Given the description of an element on the screen output the (x, y) to click on. 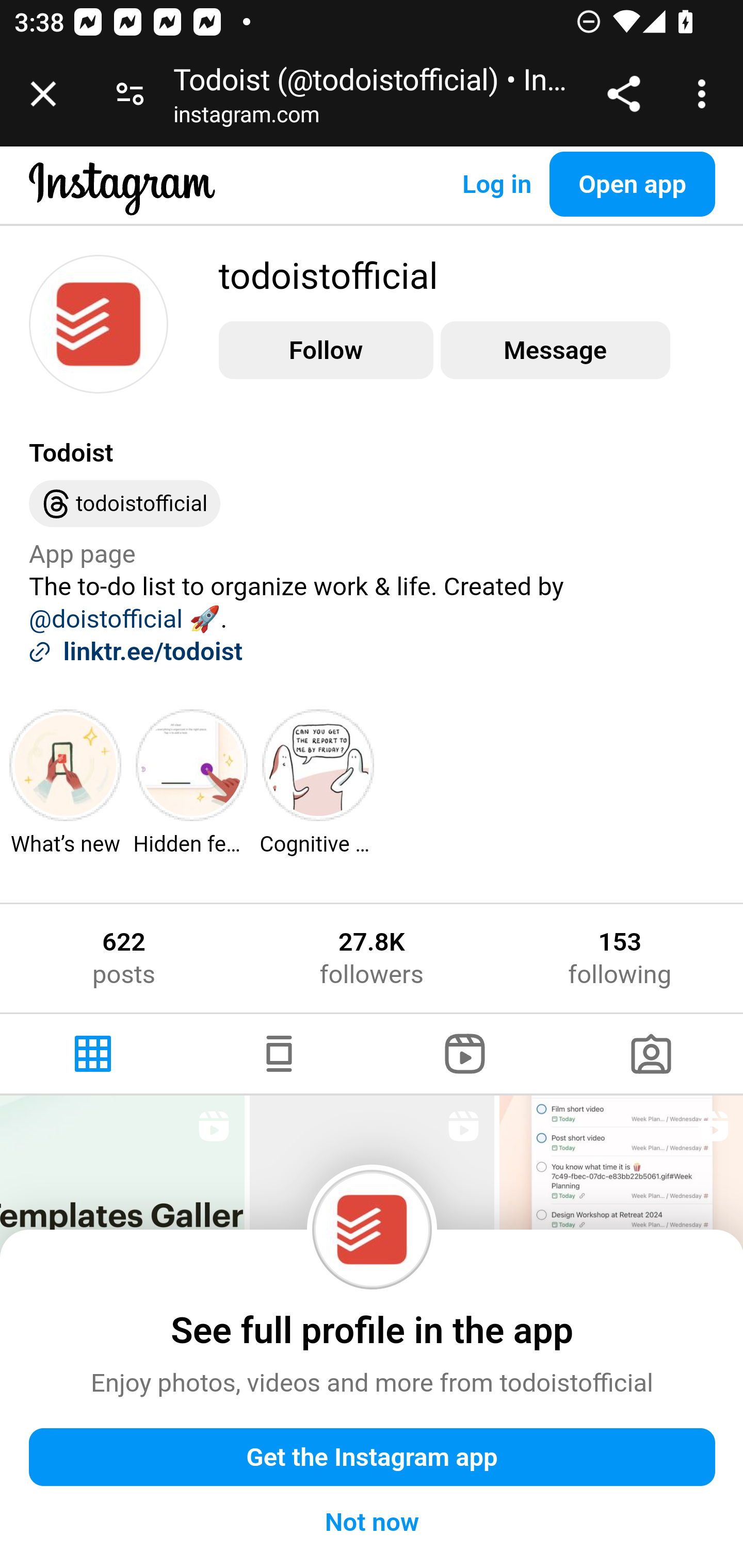
Close tab (43, 93)
Share link address (623, 93)
Customize and control Google Chrome (705, 93)
Connection is secure (129, 93)
instagram.com (246, 117)
Log in (495, 184)
Open app (632, 184)
Instagram Instagram Instagram Instagram (122, 203)
todoistofficial's profile picture (98, 322)
Follow (325, 350)
Message (554, 350)
Threads todoistofficial Threads todoistofficial (125, 503)
@doistofficial (106, 619)
linktr.ee/todoist (152, 651)
What’s new's profile picture (65, 765)
Hidden features's profile picture (192, 765)
Cognitive Bias's profile picture (318, 765)
622 posts (124, 956)
27.8K followers (371, 956)
153 following (619, 956)
Posts (93, 1053)
Feed (278, 1053)
Reels (465, 1053)
Tagged (649, 1053)
Clip (371, 1217)
Clip (620, 1217)
todoistofficial's profile picture (372, 1229)
Get the Instagram app (372, 1458)
Not now (372, 1522)
